Given the description of an element on the screen output the (x, y) to click on. 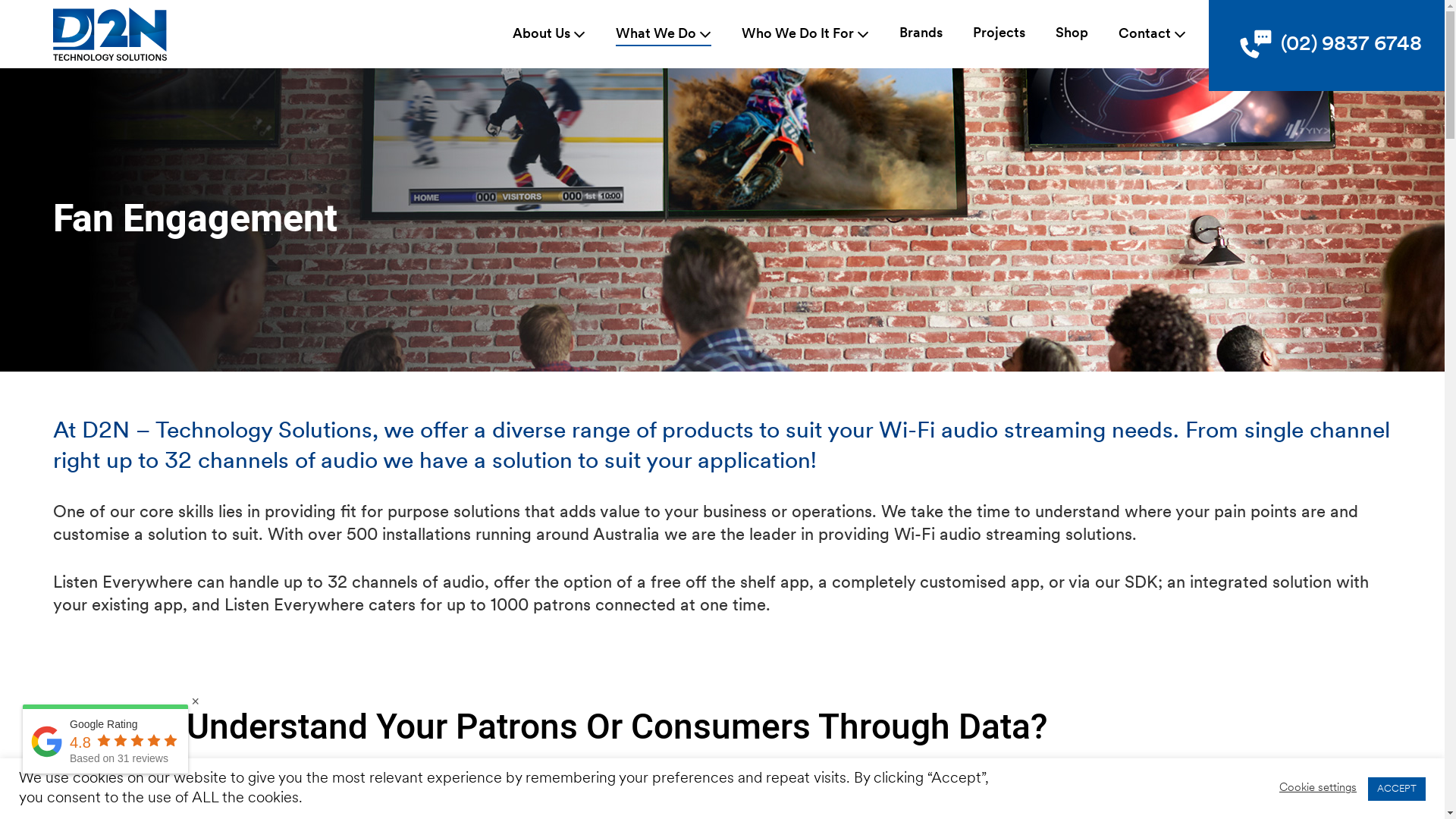
Who We Do It For Element type: text (805, 33)
What We Do Element type: text (663, 33)
ACCEPT Element type: text (1396, 788)
Brands Element type: text (920, 33)
Projects Element type: text (998, 33)
Shop Element type: text (1071, 33)
Contact Element type: text (1152, 33)
(02) 9837 6748 Element type: text (1330, 45)
Cookie settings Element type: text (1317, 788)
About Us Element type: text (548, 33)
